Given the description of an element on the screen output the (x, y) to click on. 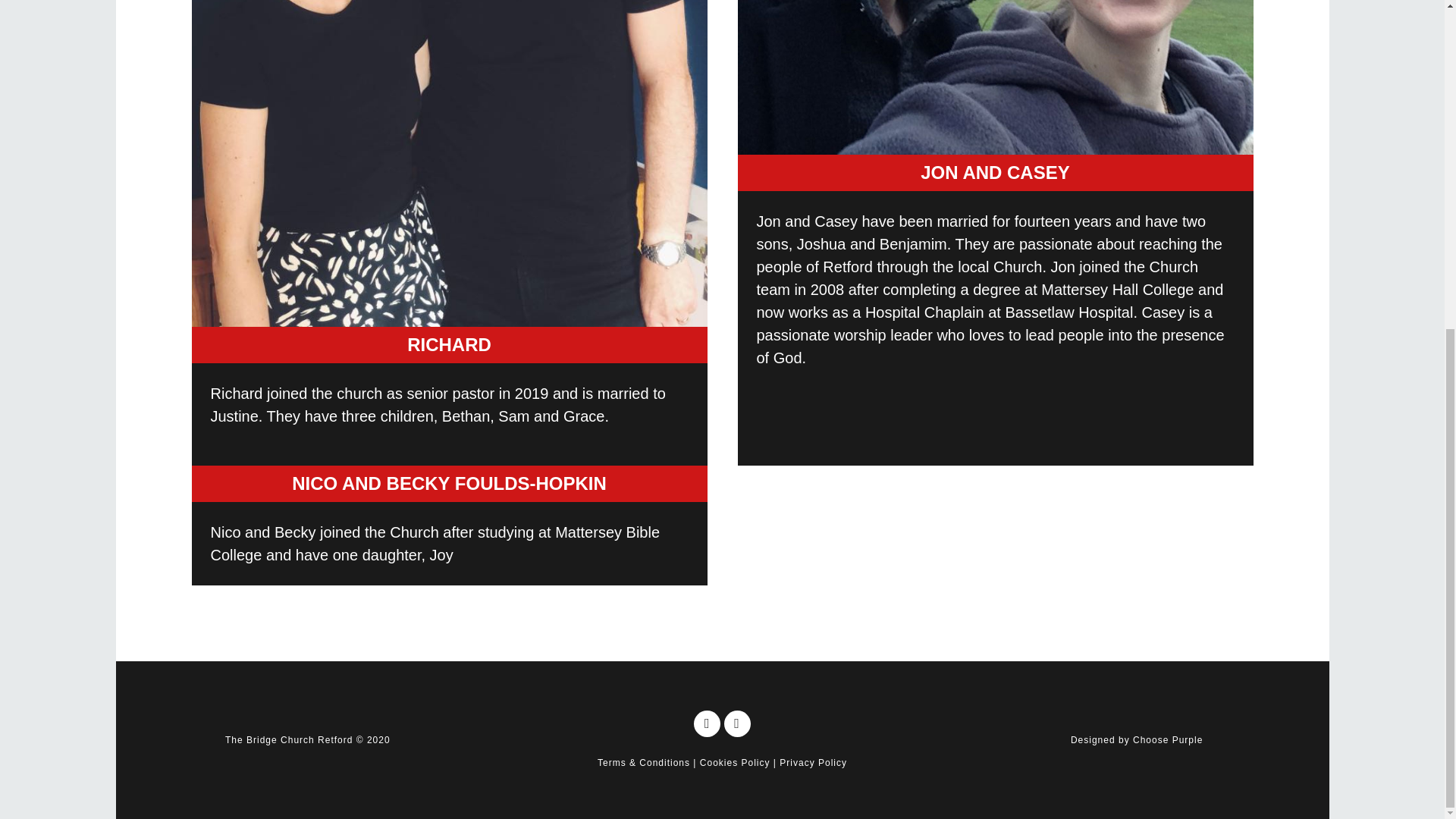
Cookies Policy (735, 762)
Choose Purple (1167, 739)
Privacy Policy (812, 762)
